Given the description of an element on the screen output the (x, y) to click on. 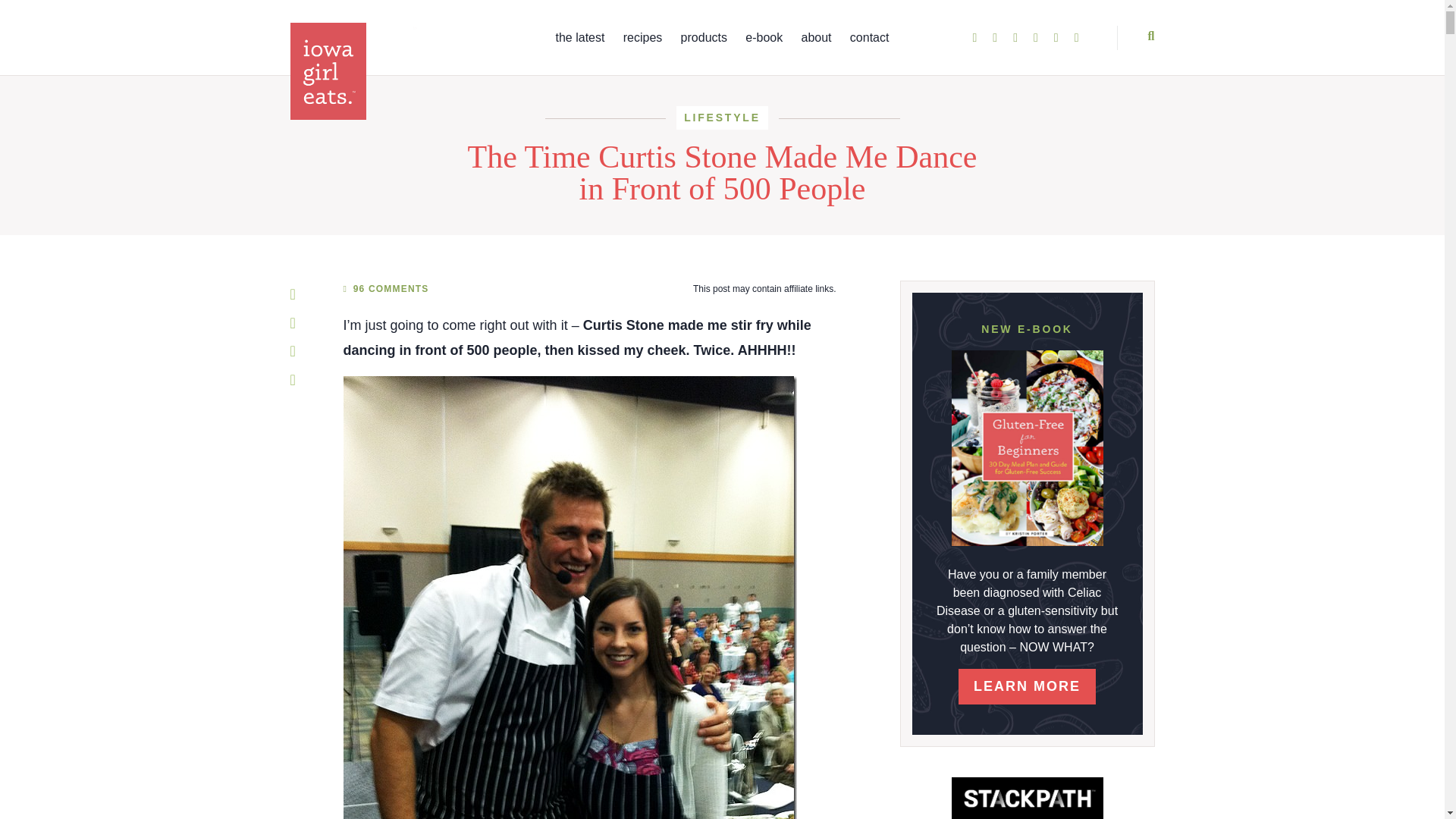
recipes (642, 37)
e-book (764, 37)
the latest (579, 37)
products (703, 37)
contact (869, 37)
about (815, 37)
Iowa Girl Eats (352, 70)
